Given the description of an element on the screen output the (x, y) to click on. 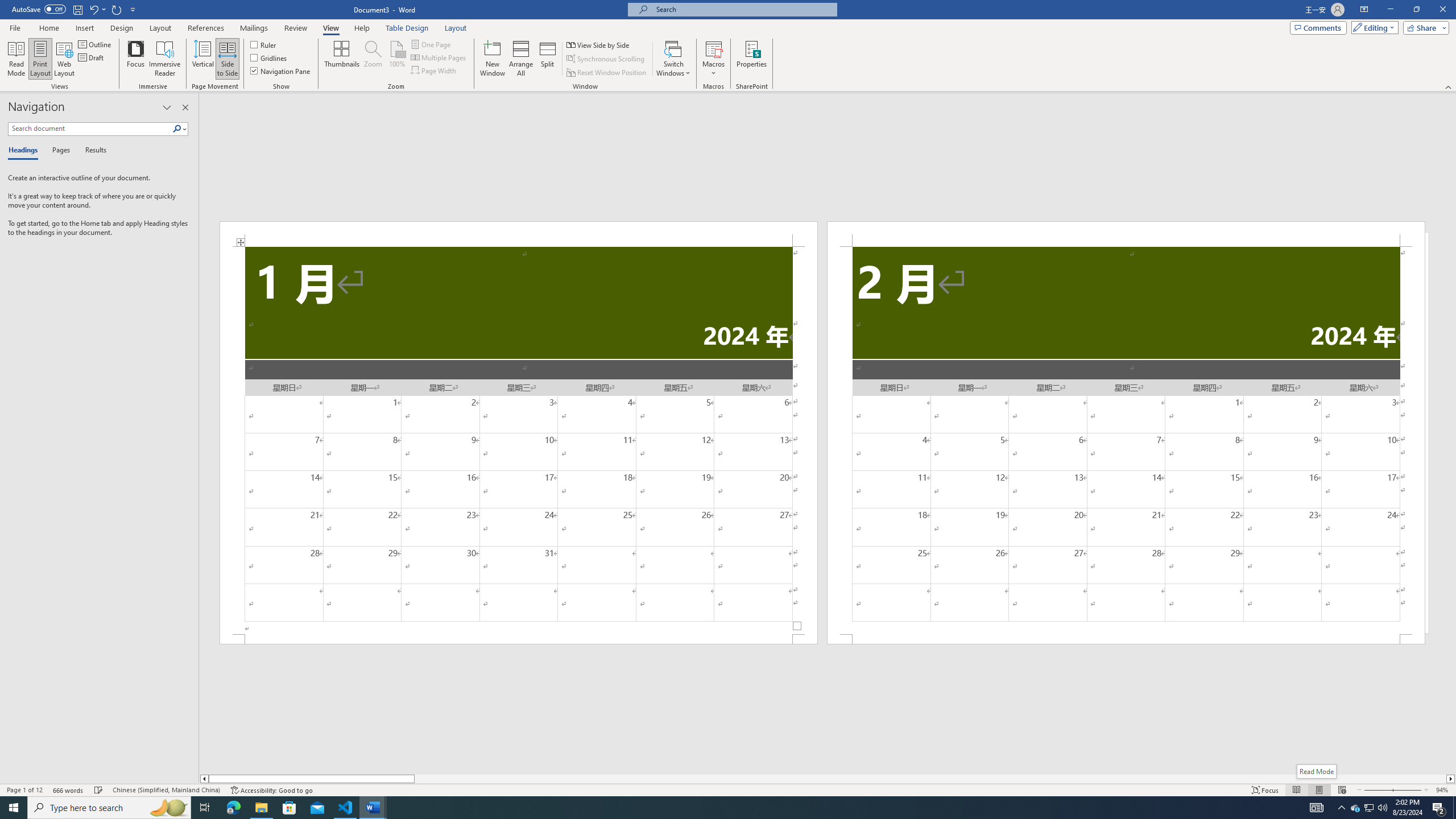
Page 2 content (1126, 439)
Results (91, 150)
Header -Section 2- (1126, 233)
